Given the description of an element on the screen output the (x, y) to click on. 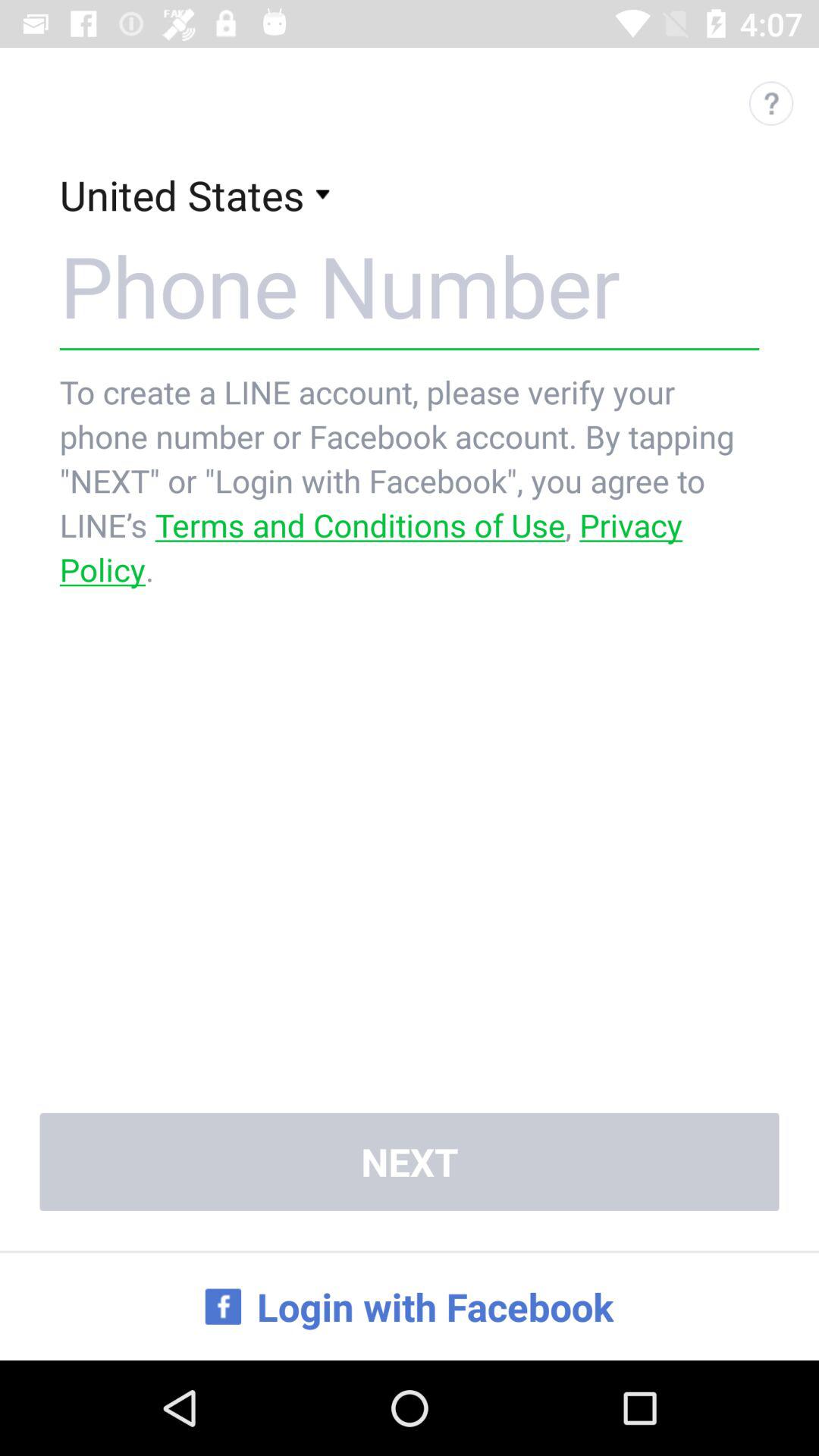
launch the icon above the next (409, 480)
